Given the description of an element on the screen output the (x, y) to click on. 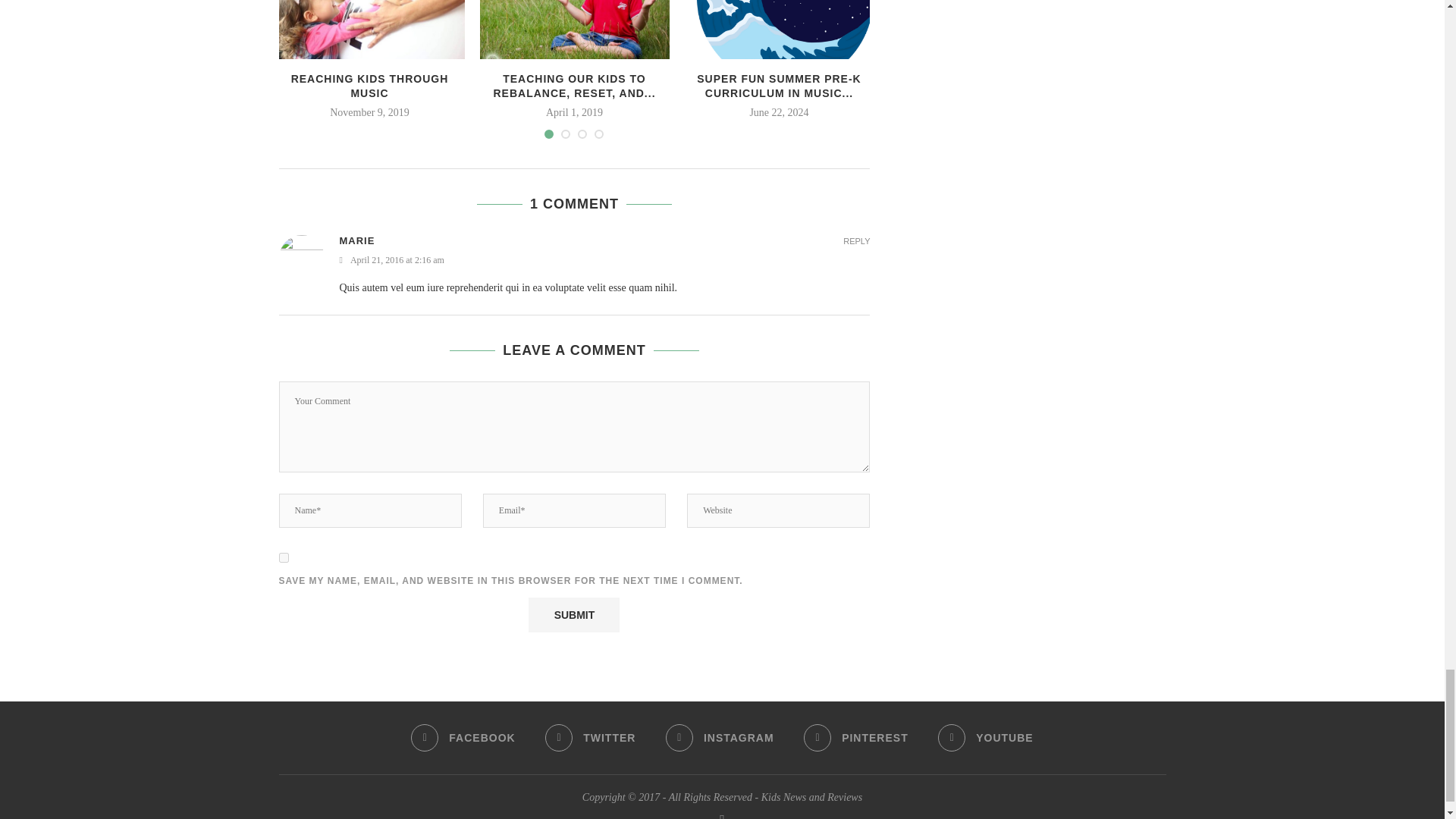
yes (283, 557)
REACHING KIDS THROUGH MUSIC (369, 29)
Submit (574, 614)
